Given the description of an element on the screen output the (x, y) to click on. 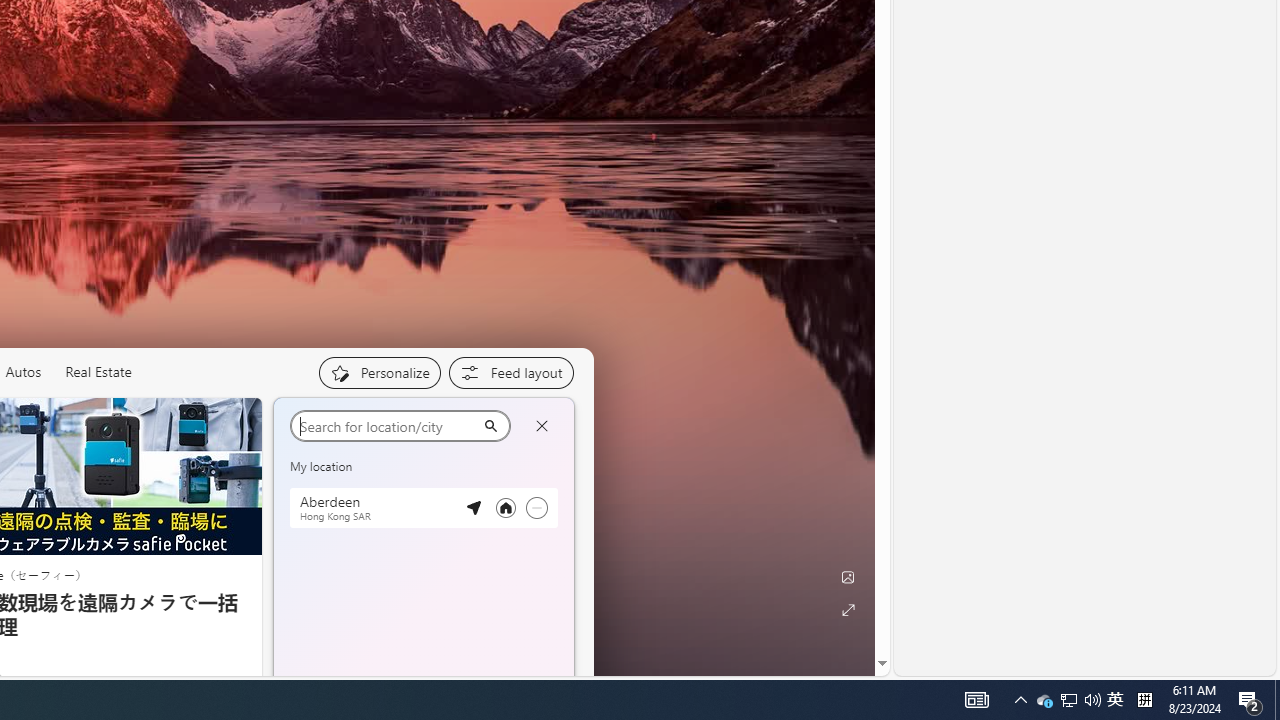
next (563, 549)
Expand background (847, 610)
Hourly (319, 516)
Cancel (541, 425)
Class: icon-img (543, 421)
Rain showers (532, 585)
See full forecast (502, 685)
